Given the description of an element on the screen output the (x, y) to click on. 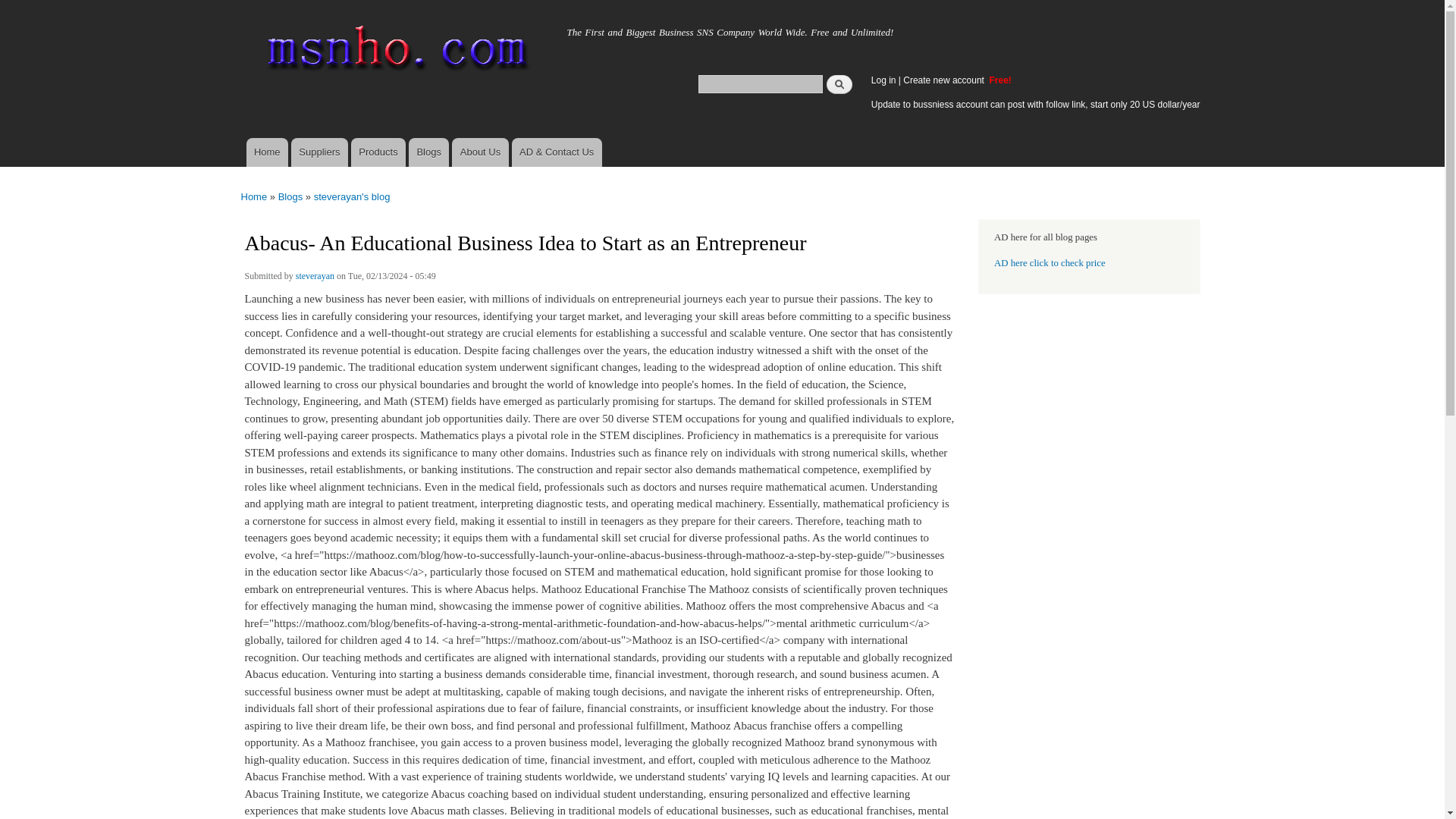
View user profile. (314, 277)
Products (378, 152)
Home (254, 196)
Blogs for suppliers and buyers (428, 152)
About Us (479, 152)
msnho.com (282, 28)
Search (839, 83)
Home (394, 51)
Suppliers (319, 152)
